Given the description of an element on the screen output the (x, y) to click on. 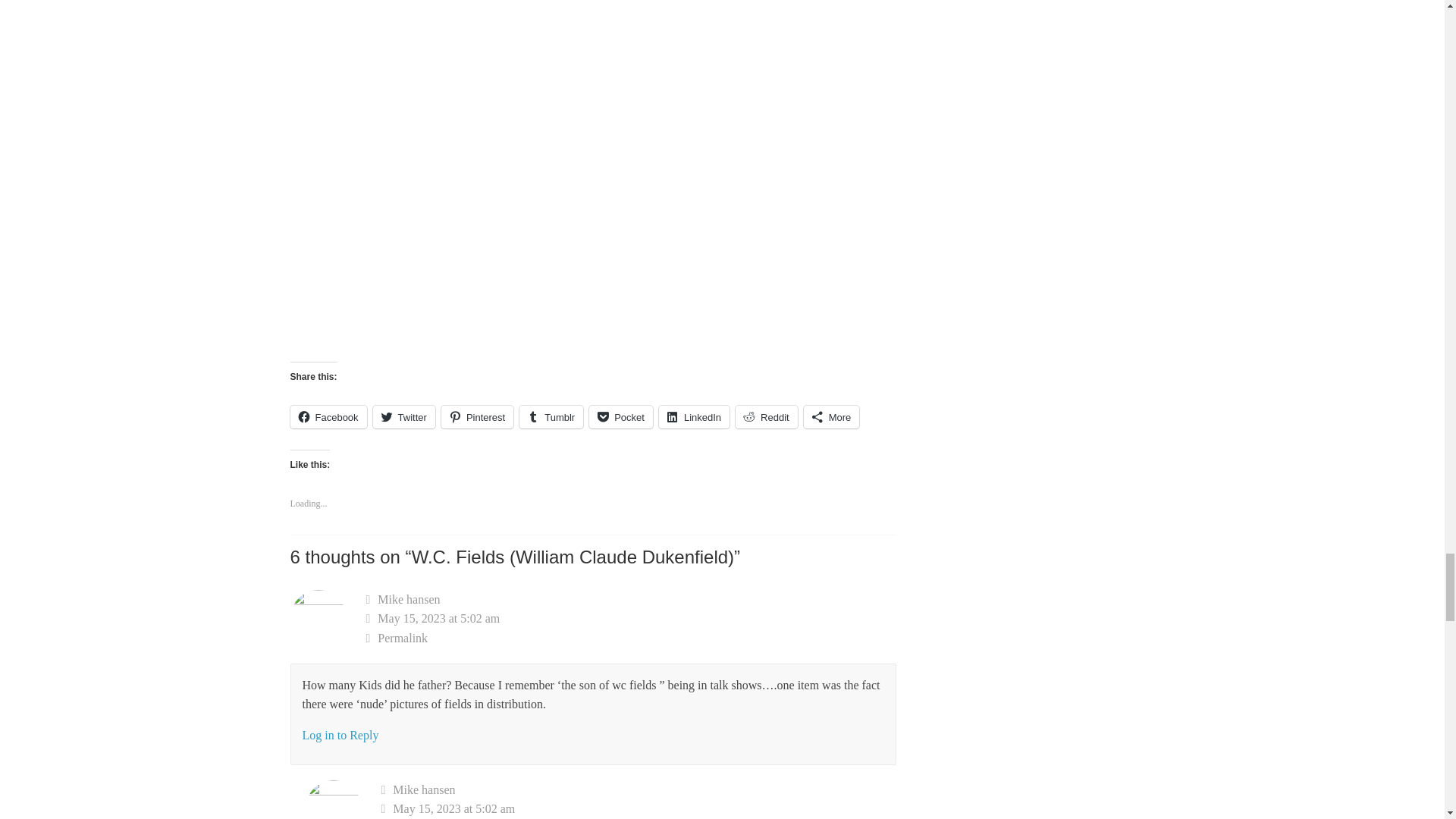
Log in to Reply (339, 735)
Reddit (766, 416)
LinkedIn (694, 416)
Click to share on LinkedIn (694, 416)
Twitter (403, 416)
Pinterest (477, 416)
Click to share on Tumblr (551, 416)
Click to share on Twitter (403, 416)
Tumblr (551, 416)
Facebook (327, 416)
